Given the description of an element on the screen output the (x, y) to click on. 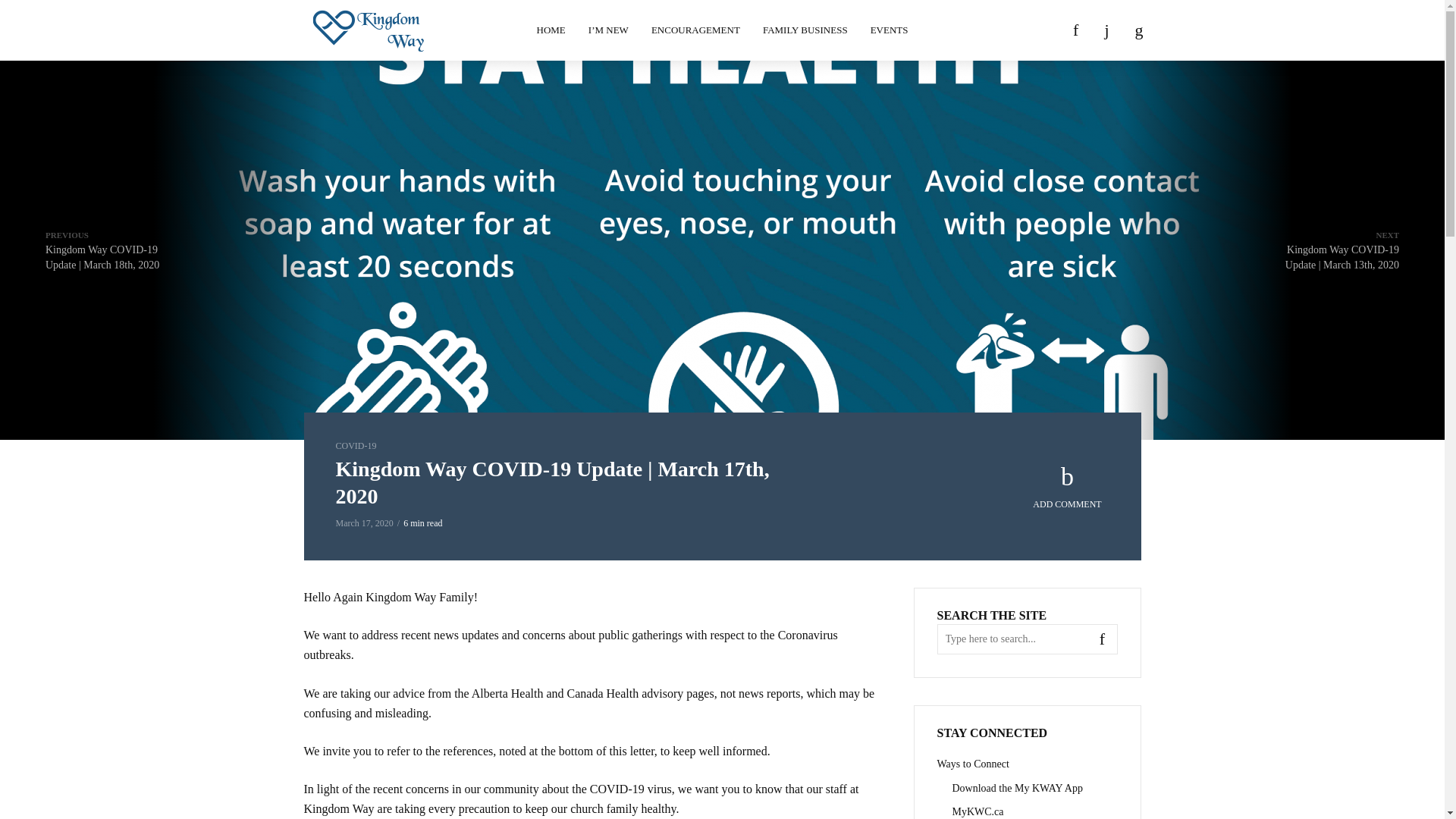
HOME (550, 30)
ENCOURAGEMENT (695, 30)
FAMILY BUSINESS (805, 30)
EVENTS (889, 30)
